Given the description of an element on the screen output the (x, y) to click on. 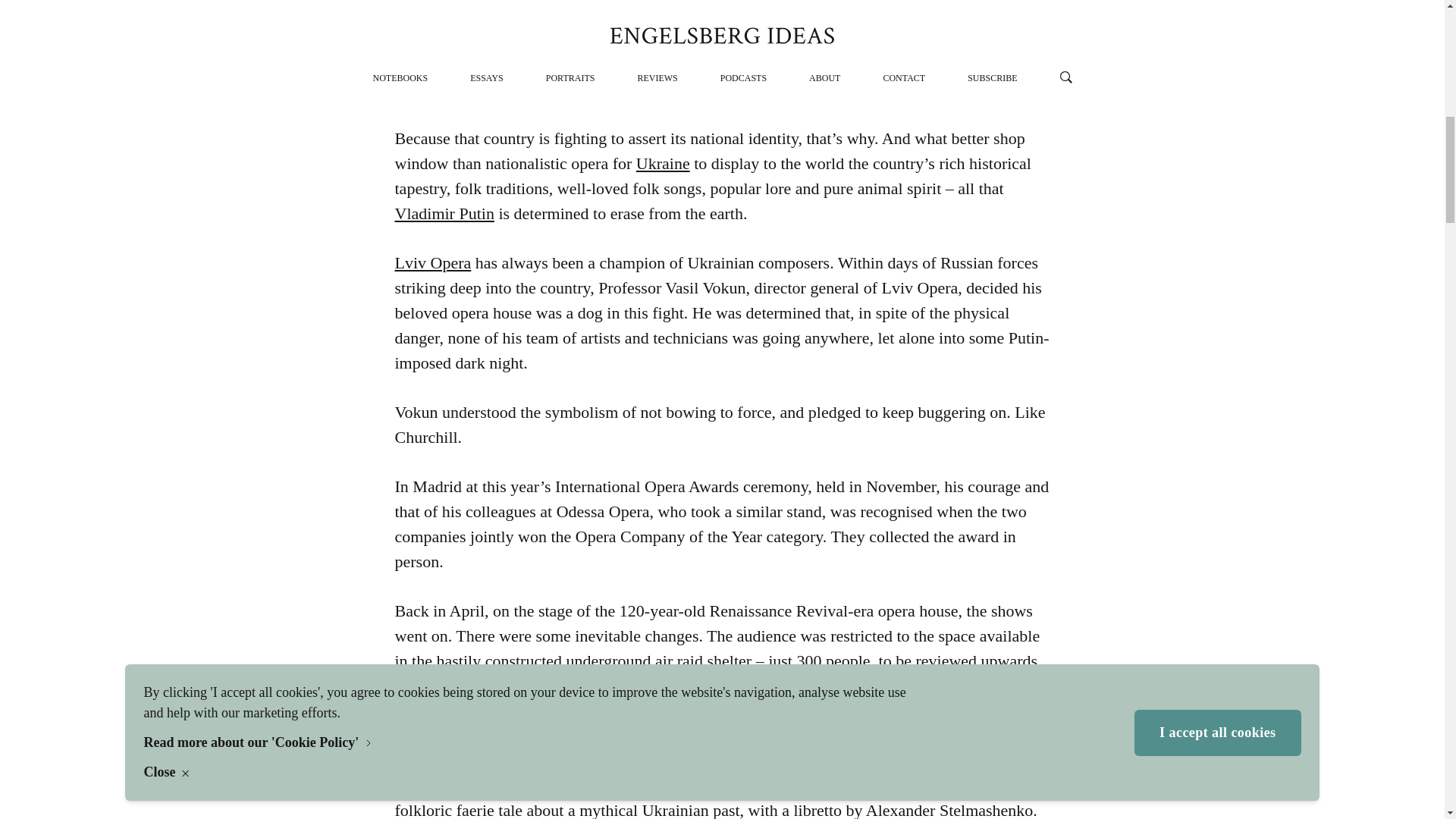
Vladimir Putin (443, 212)
Lviv Opera (432, 262)
Ukraine (663, 162)
